Given the description of an element on the screen output the (x, y) to click on. 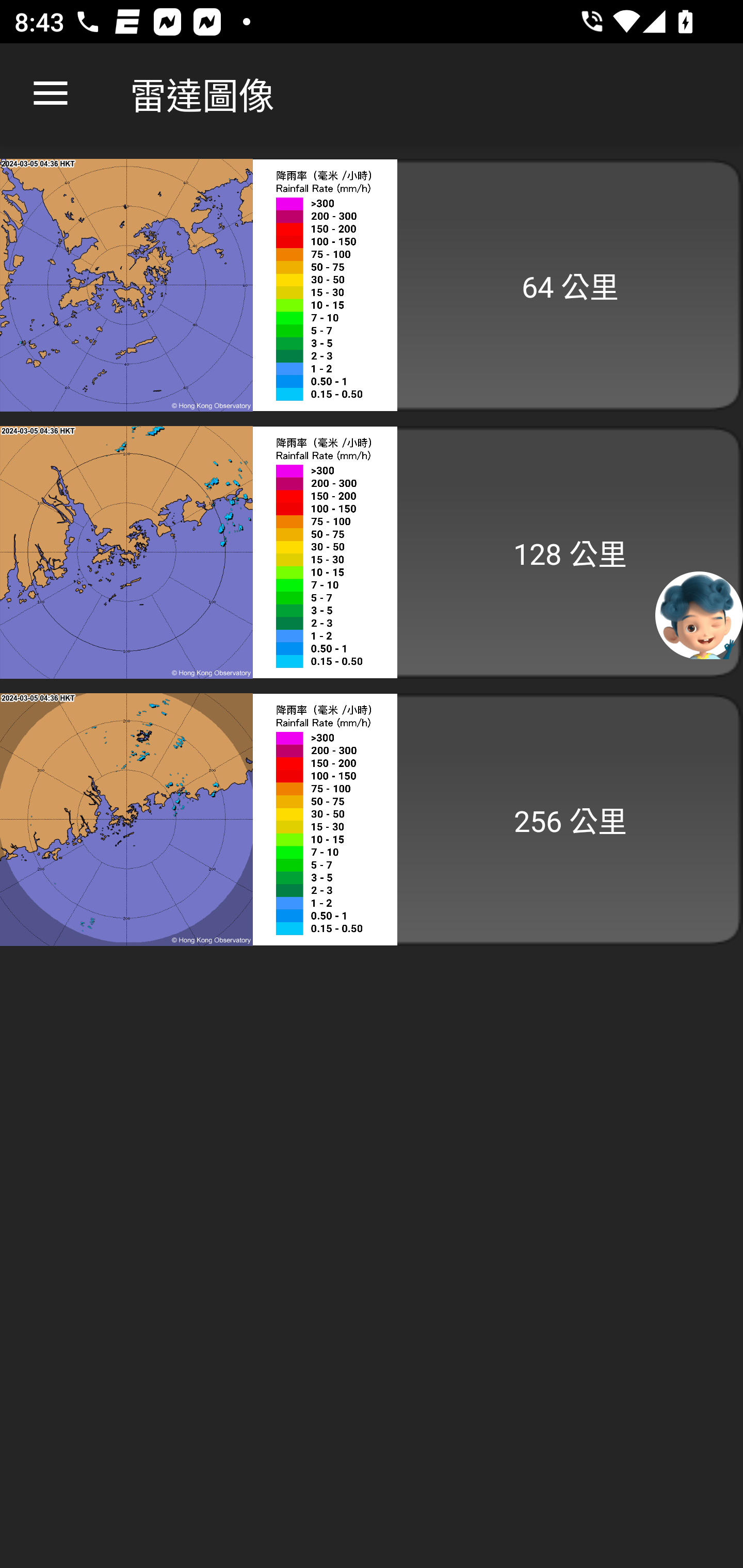
向上瀏覽 (50, 93)
64 公里 (371, 284)
128 公里 (371, 552)
聊天機械人 (699, 614)
256 公里 (371, 819)
